Given the description of an element on the screen output the (x, y) to click on. 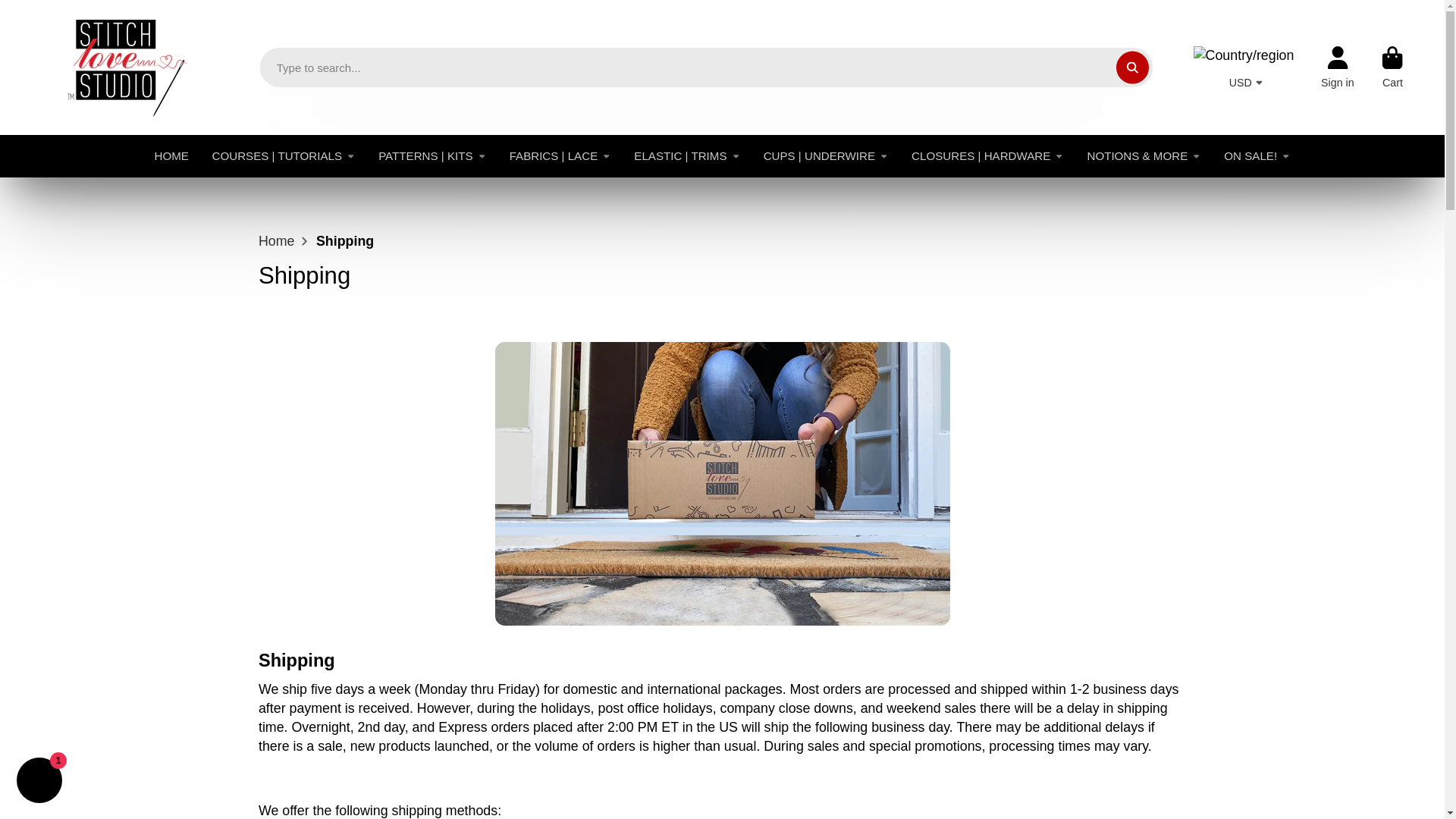
Logo (116, 67)
Account (1337, 66)
Cart (1391, 66)
Shopify online store chat (38, 781)
HOME (170, 156)
